Given the description of an element on the screen output the (x, y) to click on. 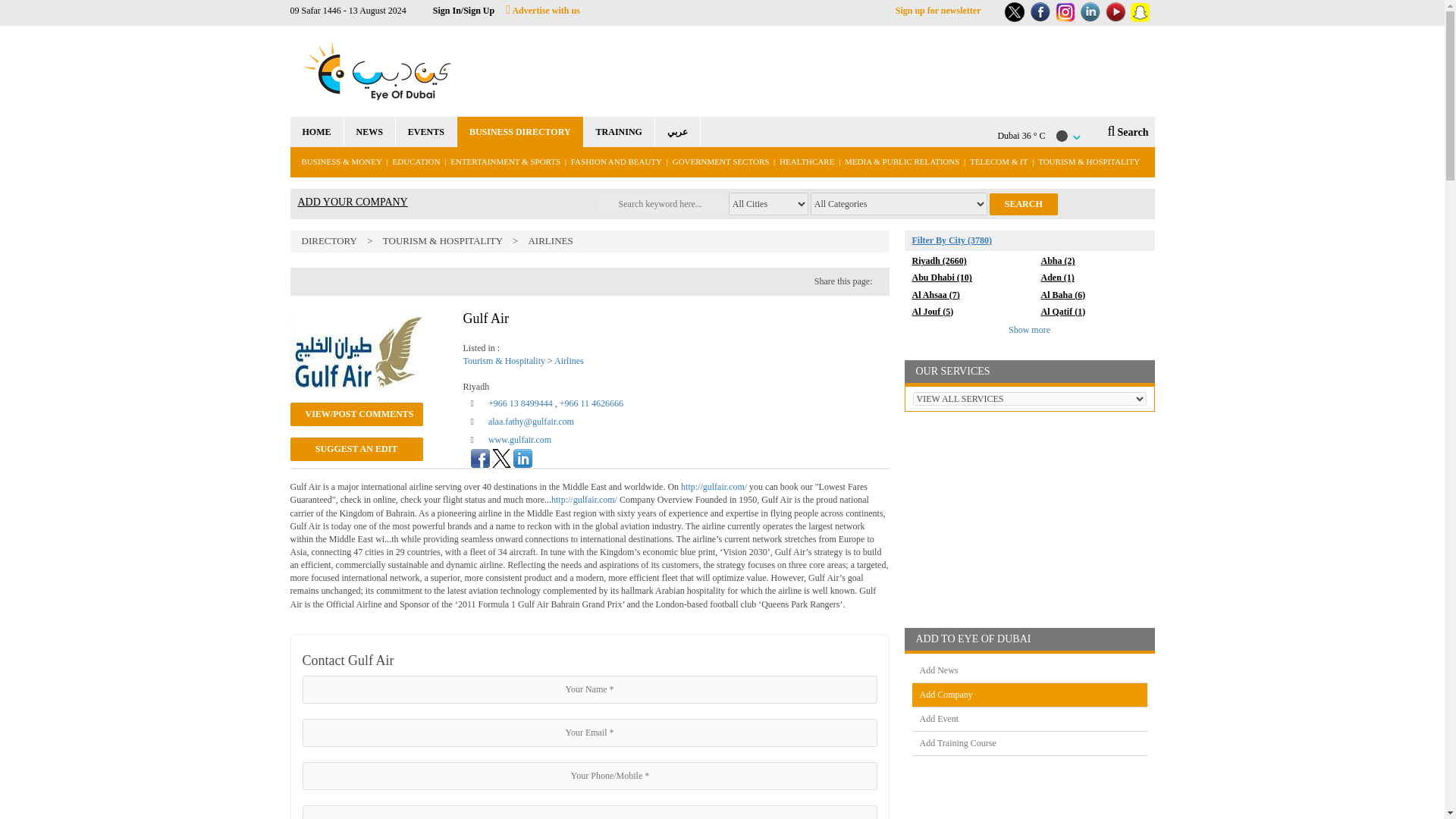
clear sky (1061, 135)
NEWS (368, 131)
Youtube (1115, 12)
TRAINING (618, 131)
Eye of Dubai (375, 70)
Sign up for newsletter (938, 9)
EVENTS (426, 131)
Search (1024, 204)
BUSINESS DIRECTORY (520, 131)
Gulf Air (357, 351)
